Given the description of an element on the screen output the (x, y) to click on. 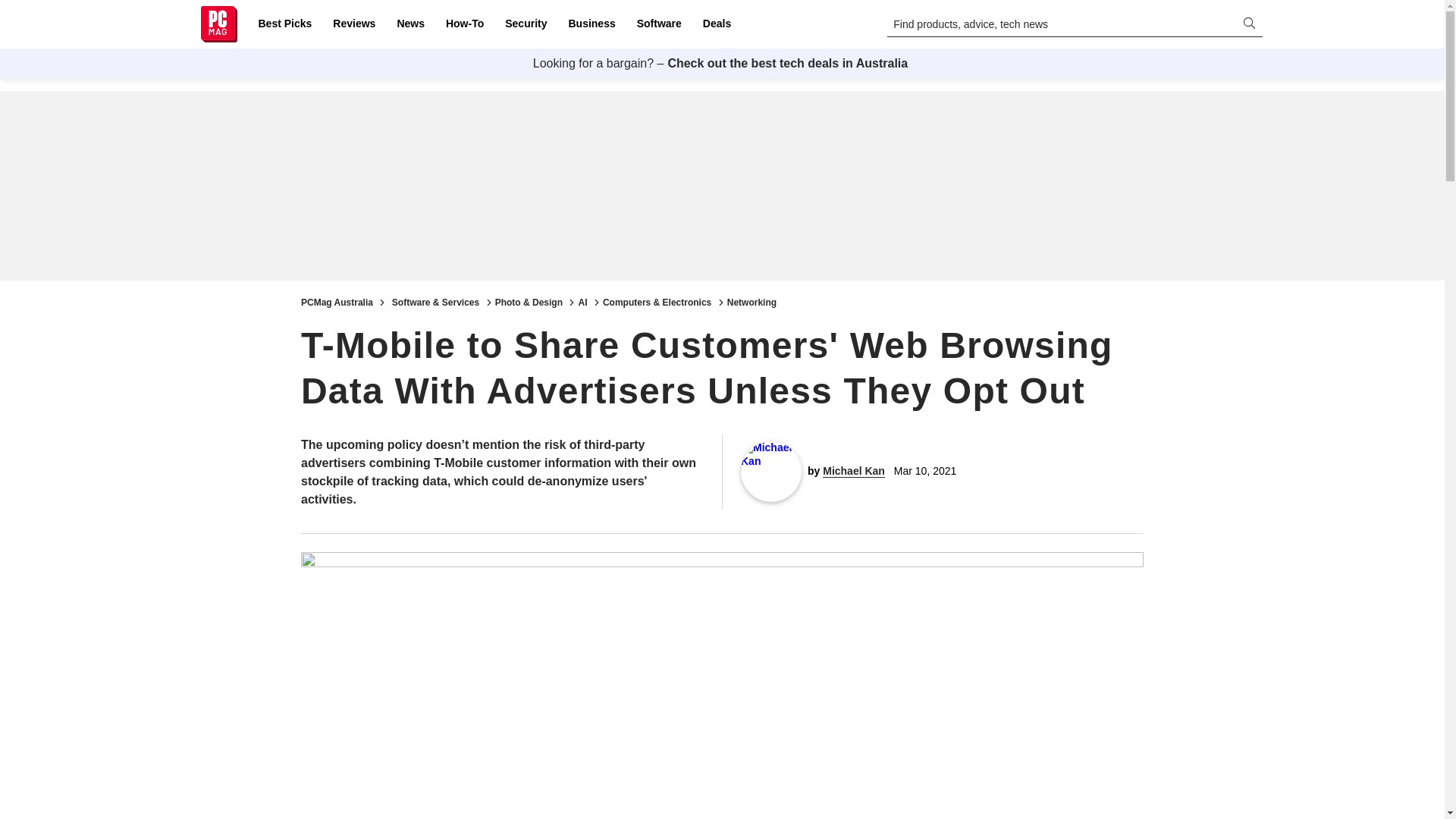
Reviews (353, 24)
Security (526, 24)
Best Picks (284, 24)
How-To (464, 24)
Business (591, 24)
